Given the description of an element on the screen output the (x, y) to click on. 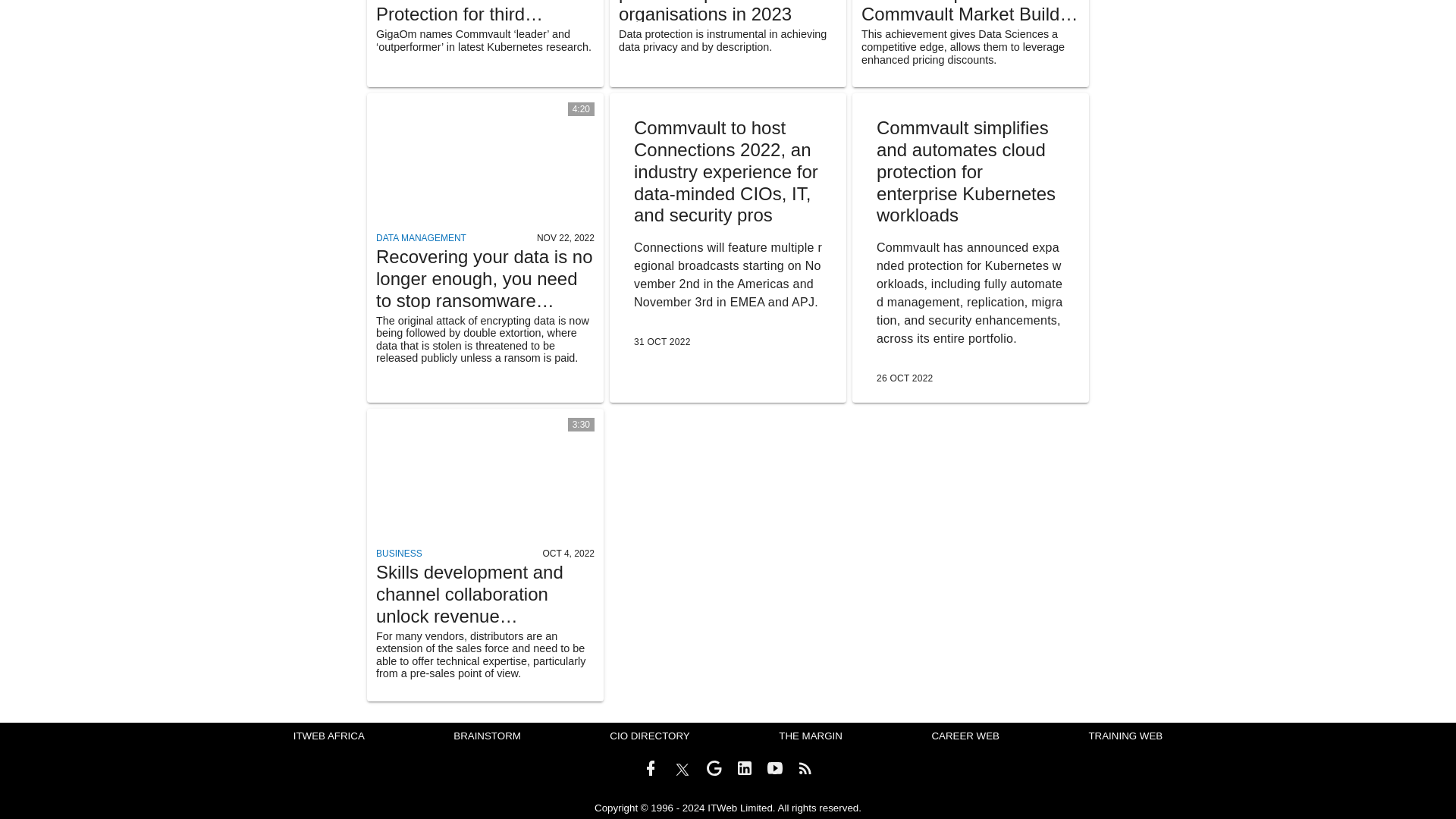
Linkedin icon (744, 768)
RSS icon (804, 768)
Google icon (713, 768)
Youtube play icon (774, 768)
Facebook icon (650, 768)
